Given the description of an element on the screen output the (x, y) to click on. 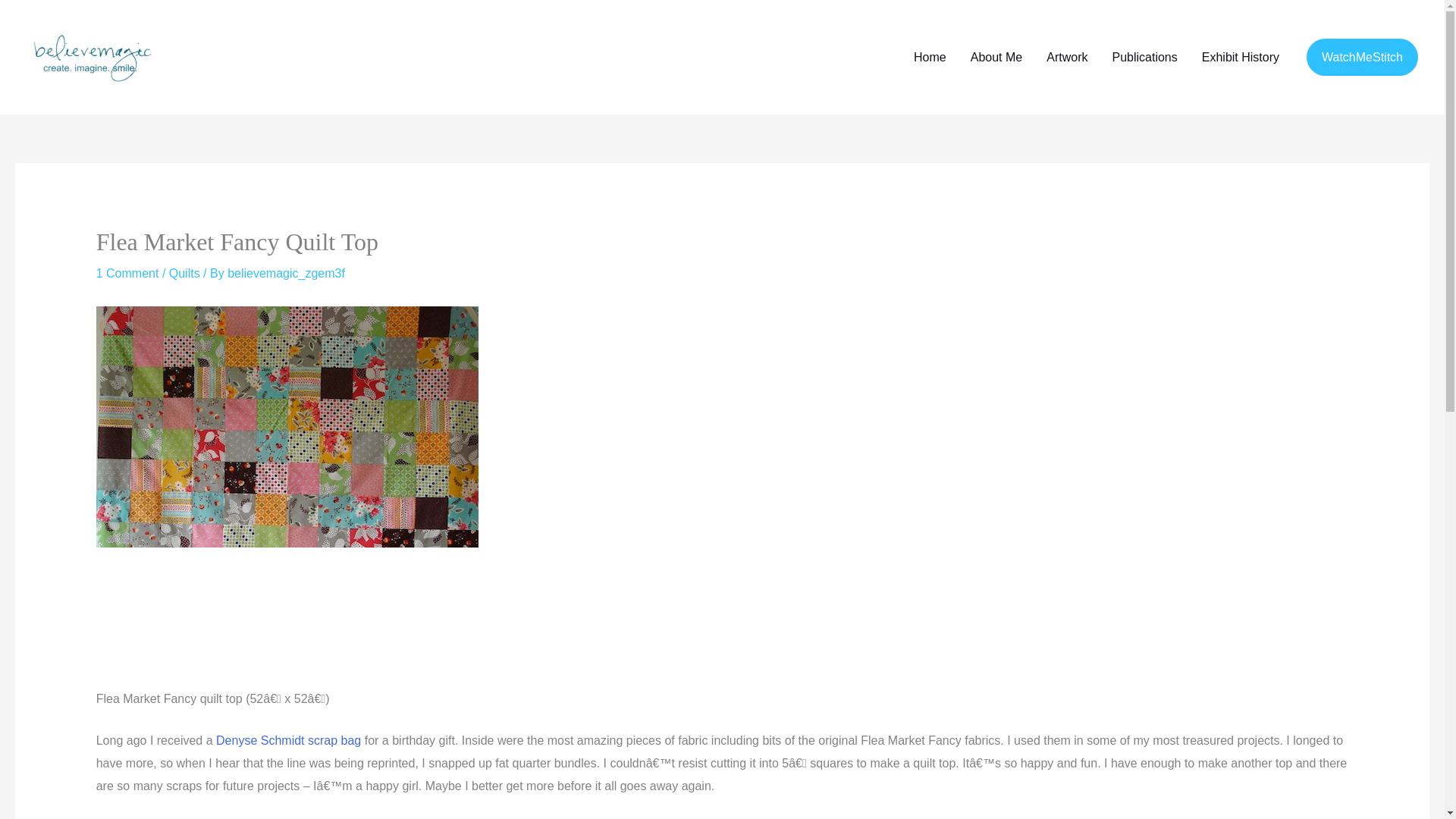
Home (929, 56)
1 Comment (127, 273)
WatchMeStitch (1362, 57)
Publications (1144, 56)
About Me (995, 56)
Exhibit History (1240, 56)
Artwork (1066, 56)
Quilts (184, 273)
Denyse Schmidt scrap bag (288, 739)
